Given the description of an element on the screen output the (x, y) to click on. 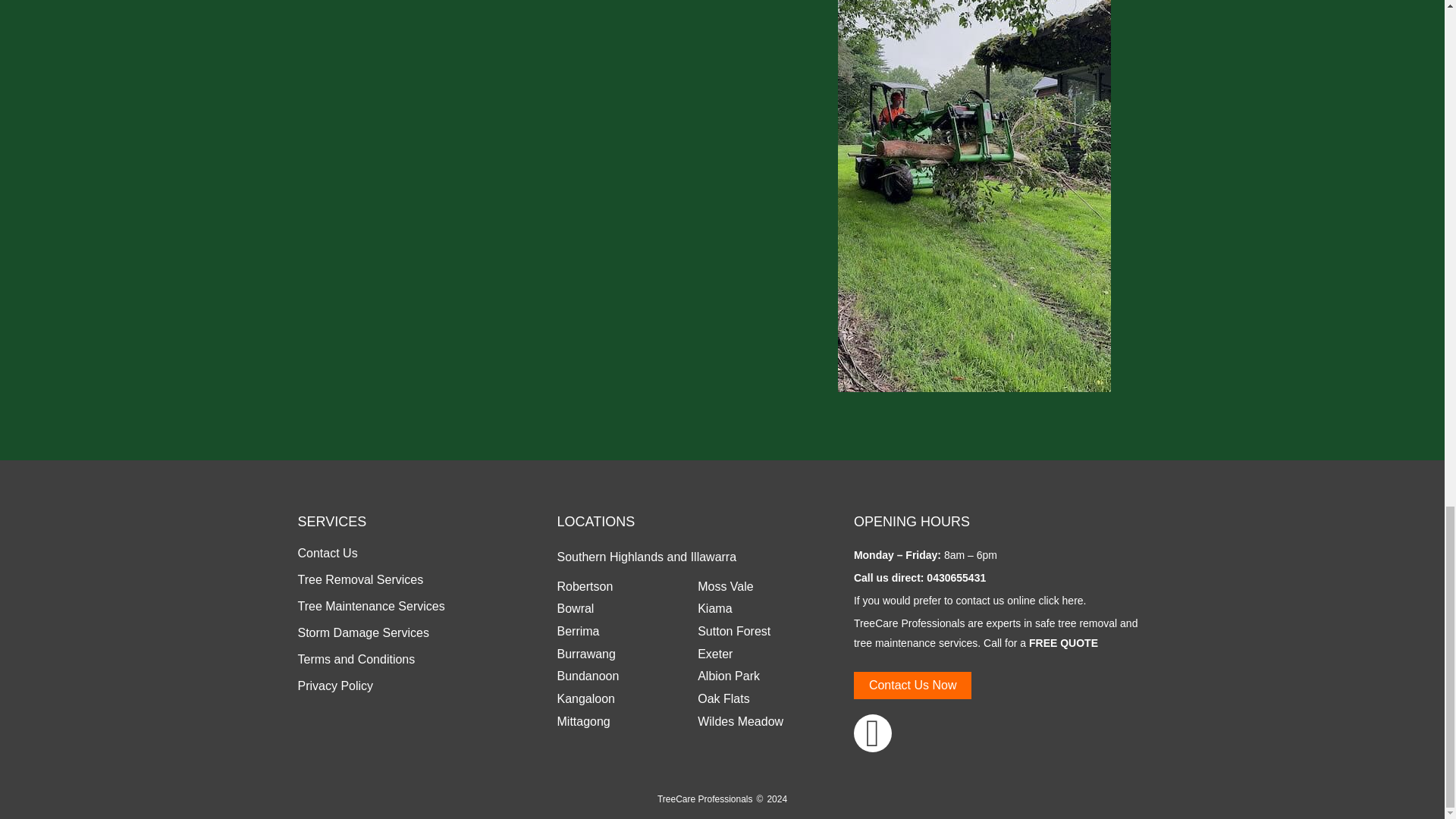
0430655431 (955, 577)
Privacy Policy (334, 685)
click here. (1062, 600)
Tree Maintenance Services (370, 606)
Tree Removal Services (360, 580)
Contact Us (326, 553)
Terms and Conditions (355, 659)
Storm Damage Services (362, 632)
Facebook-f (872, 733)
Contact Us Now (912, 685)
